Given the description of an element on the screen output the (x, y) to click on. 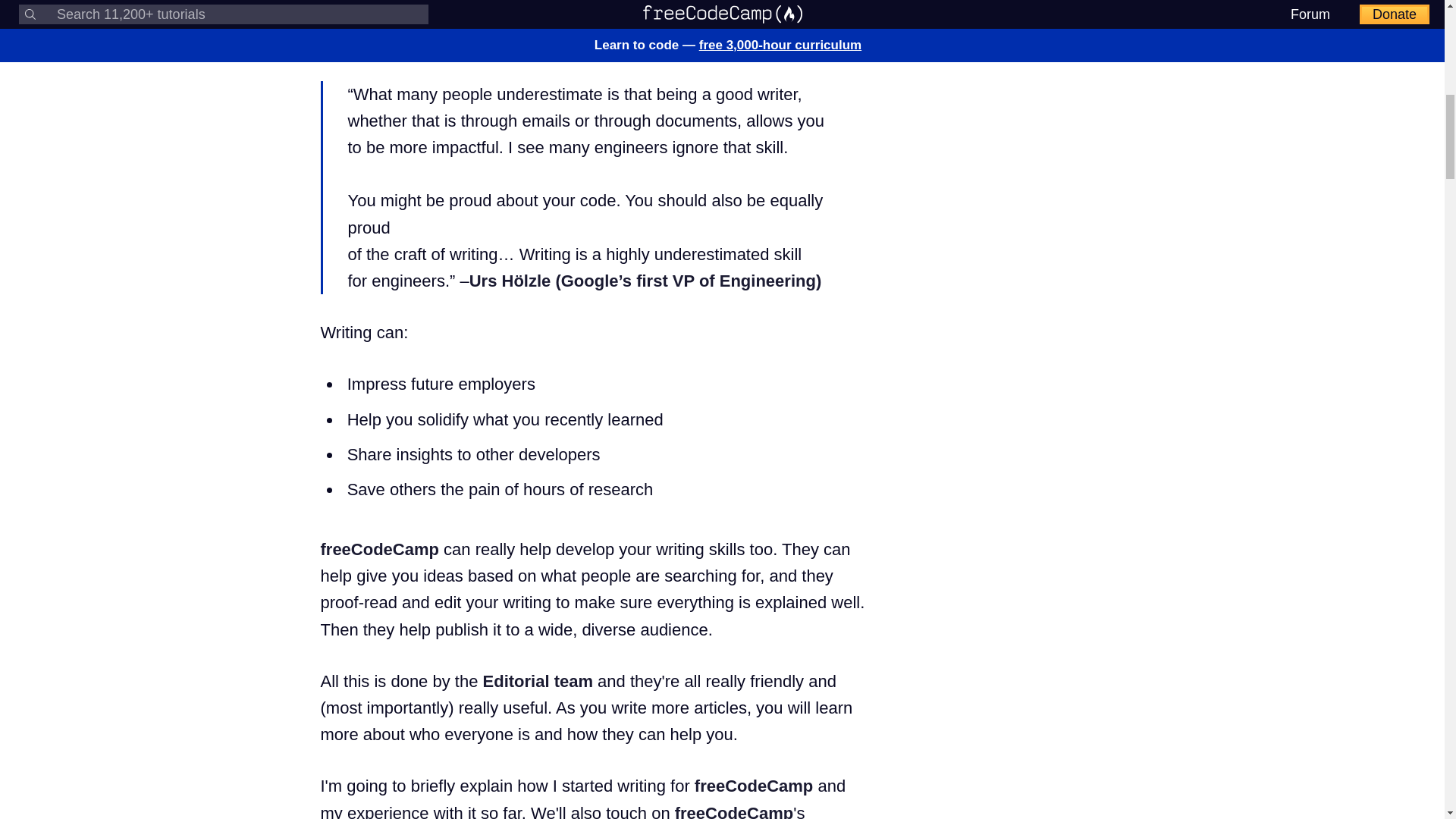
Advertisement (1010, 201)
